Given the description of an element on the screen output the (x, y) to click on. 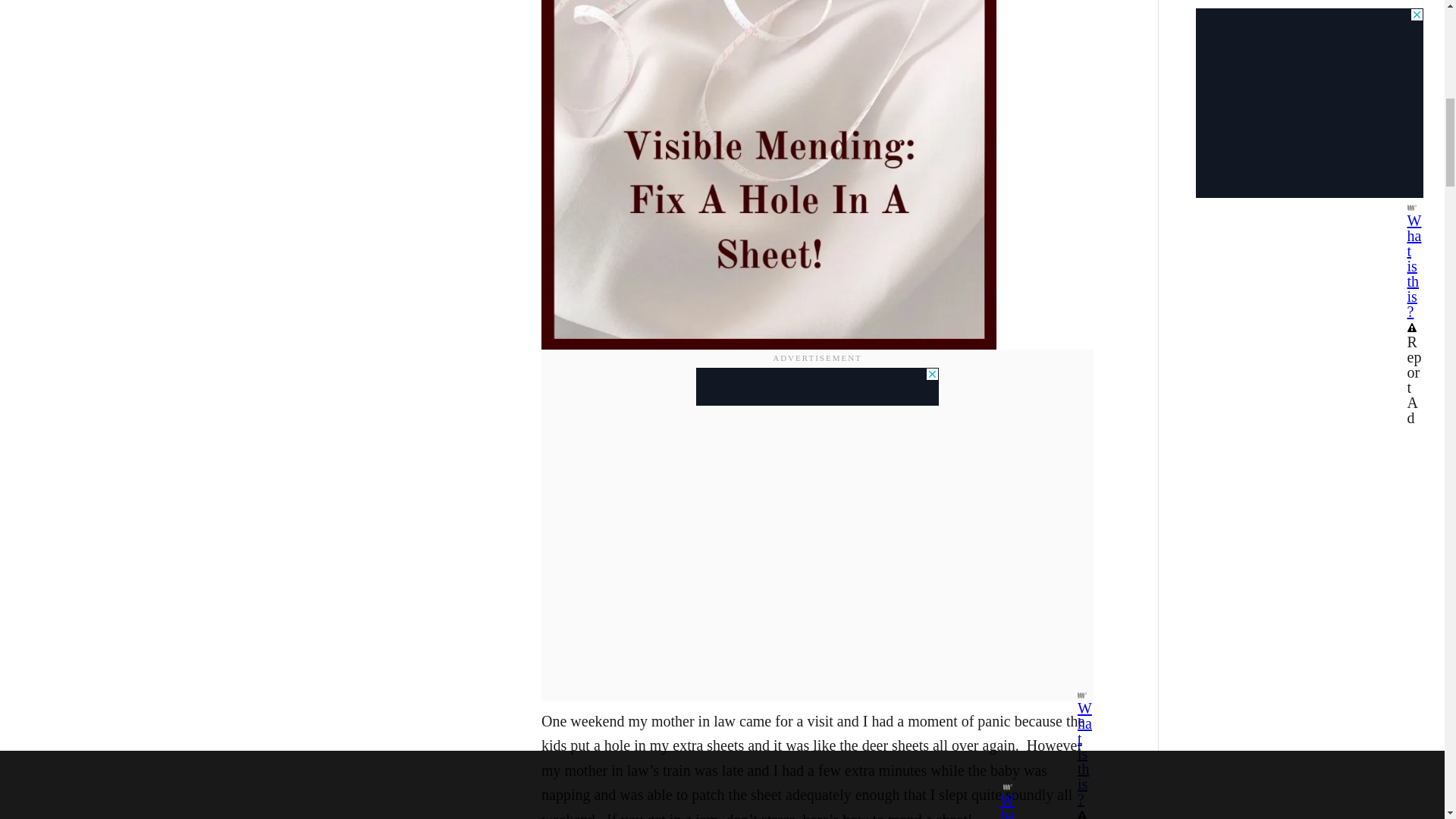
3rd party ad content (1308, 18)
3rd party ad content (817, 385)
